Given the description of an element on the screen output the (x, y) to click on. 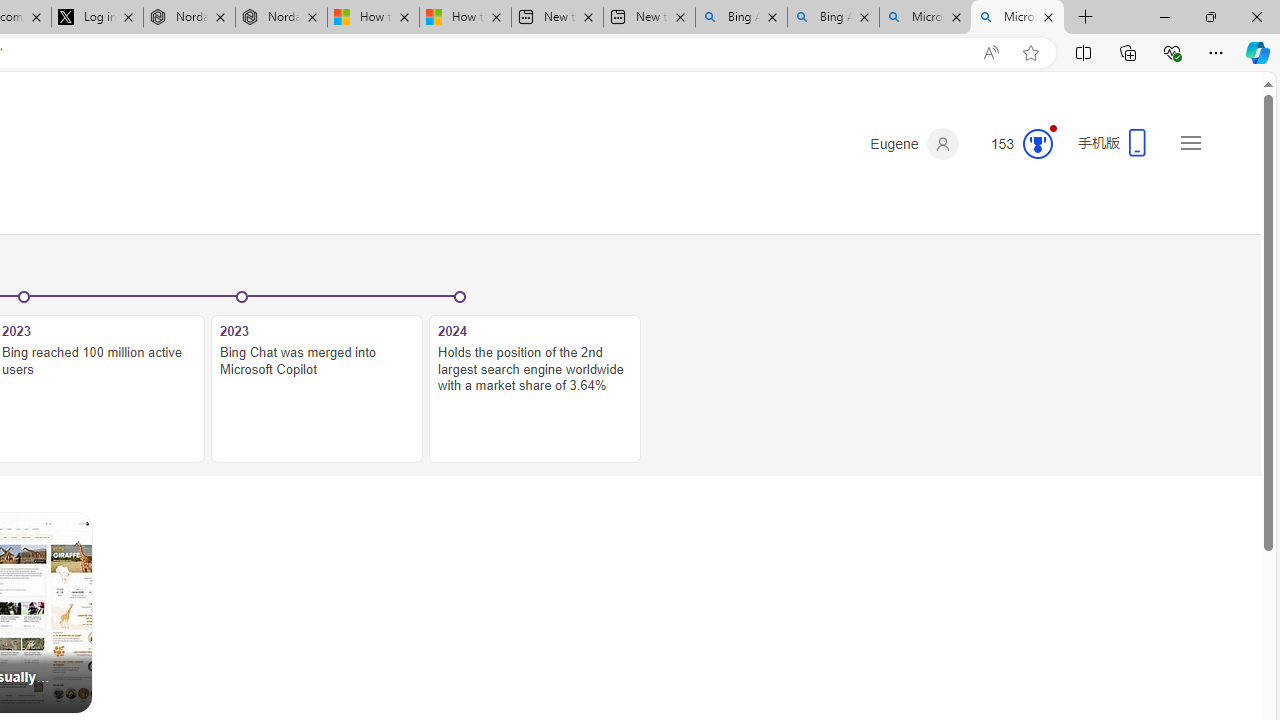
Microsoft Rewards 153 (1014, 143)
Class: medal-circled (1037, 143)
2023 Bing Chat was merged into Microsoft Copilot (317, 389)
Settings and quick links (1190, 142)
Log in to X / X (97, 17)
